Given the description of an element on the screen output the (x, y) to click on. 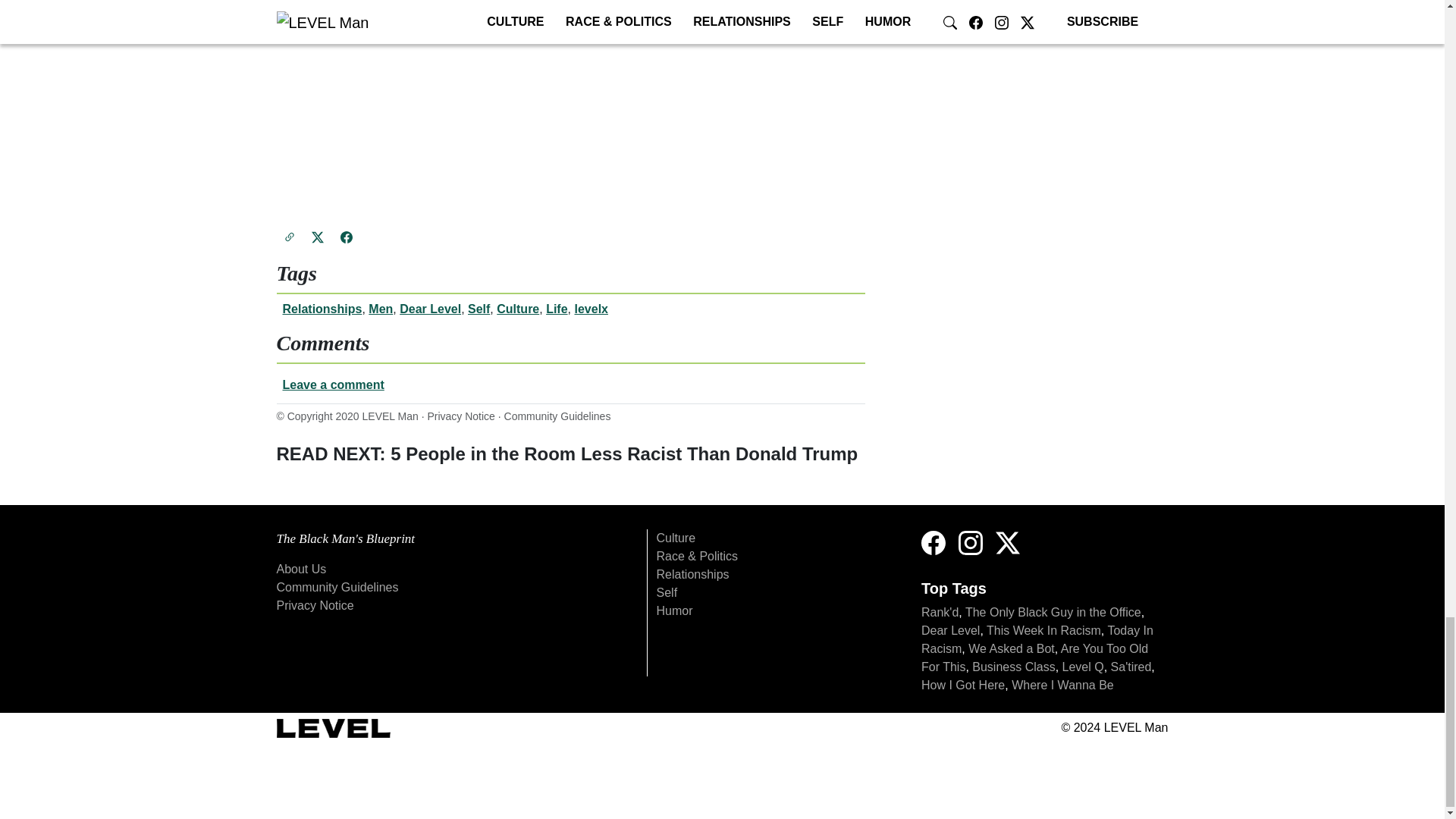
levelx (590, 308)
5 People in the Room Less Racist Than Donald Trump (566, 453)
Self (478, 308)
Facebook (936, 541)
Share to Facebook (346, 235)
Leave a comment (570, 385)
LEVEL Man (390, 416)
Instagram (970, 541)
Dear Level (429, 308)
Copy link (288, 235)
